Given the description of an element on the screen output the (x, y) to click on. 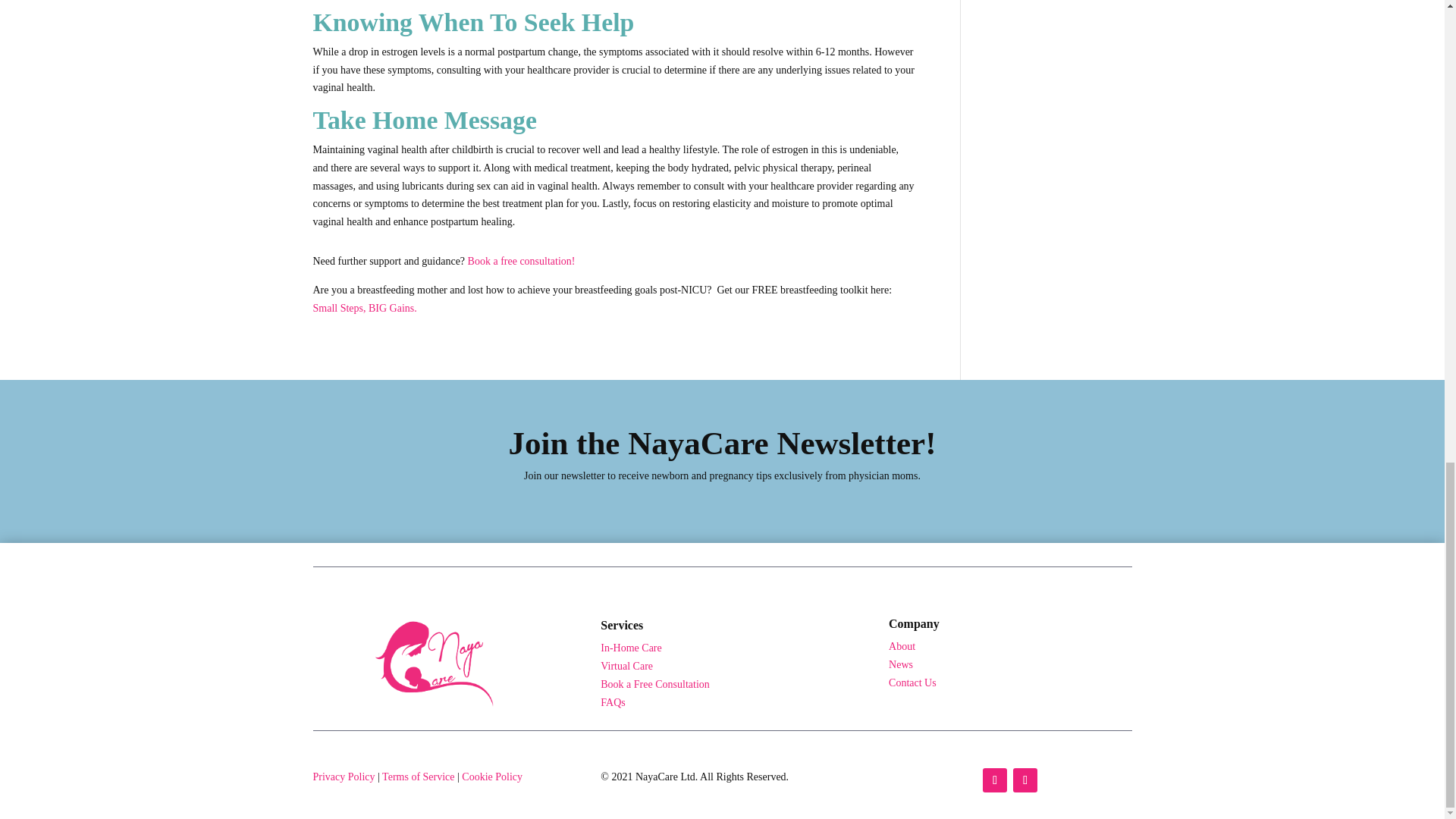
Book a Free Consultation (654, 684)
About (901, 645)
Follow on Instagram (1024, 780)
In-Home Care (630, 647)
Small Steps, BIG Gains. (364, 307)
Follow on Facebook (994, 780)
Virtual Care (625, 665)
Book a free consultation! (521, 260)
News (900, 664)
FAQs (611, 702)
